Given the description of an element on the screen output the (x, y) to click on. 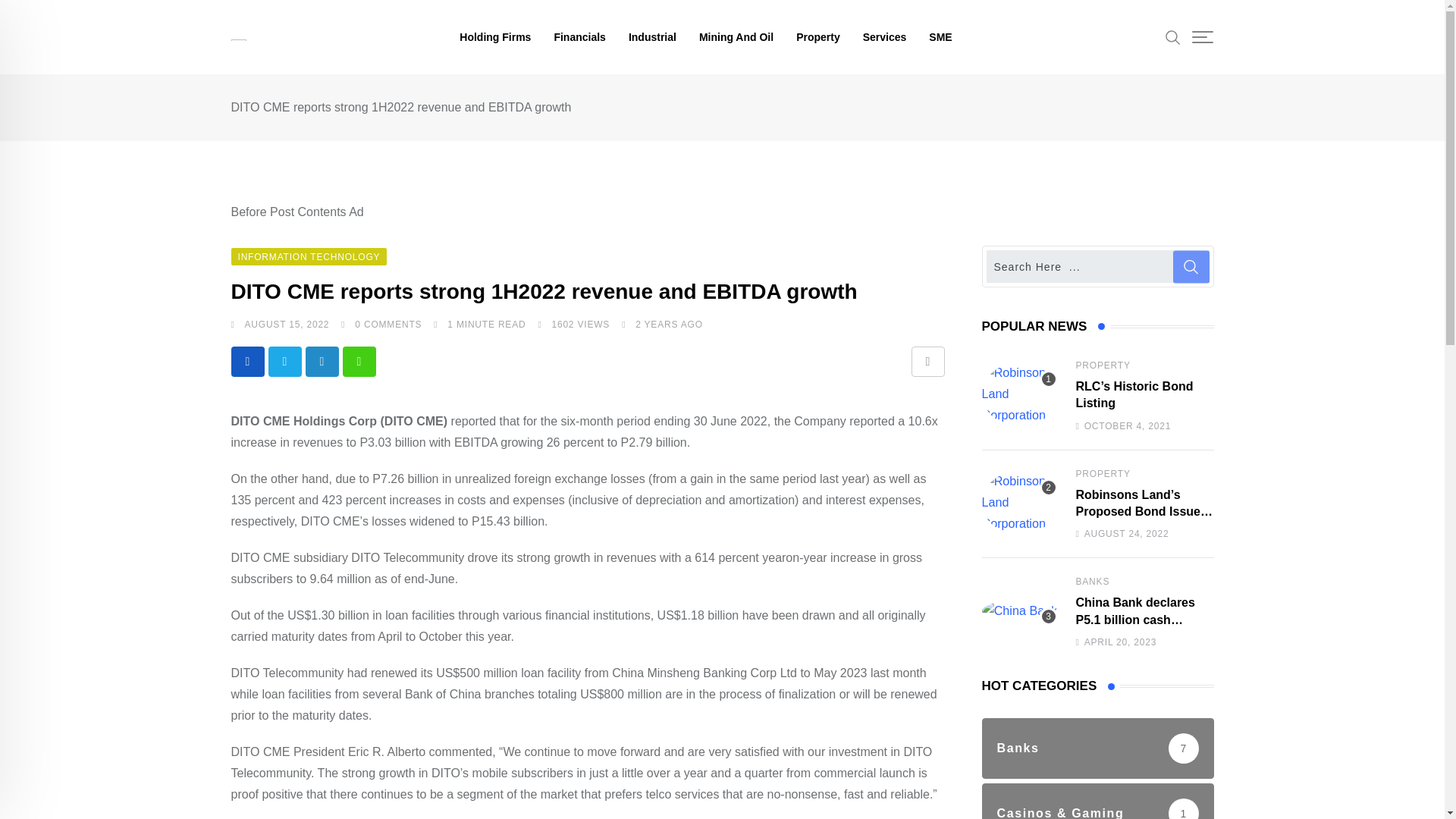
Mining And Oil (735, 37)
Services (884, 37)
Search (1173, 36)
Property (817, 37)
Industrial (652, 37)
LinkedIn (320, 361)
Whatsapp (358, 361)
Financials (578, 37)
Holding Firms (494, 37)
Share via Email (927, 361)
INFORMATION TECHNOLOGY (308, 255)
